Given the description of an element on the screen output the (x, y) to click on. 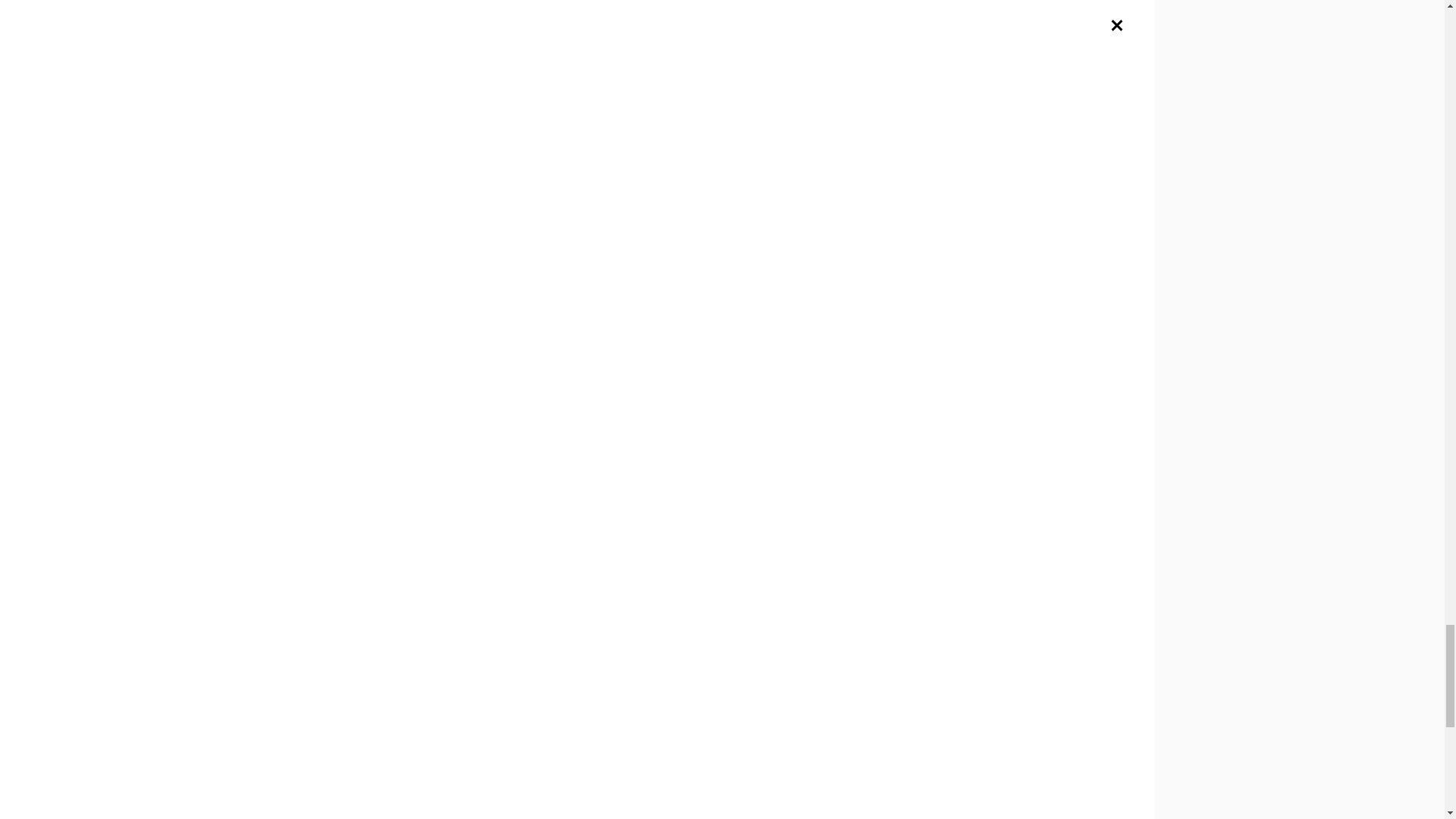
Posts by jodi stewart (370, 744)
